Given the description of an element on the screen output the (x, y) to click on. 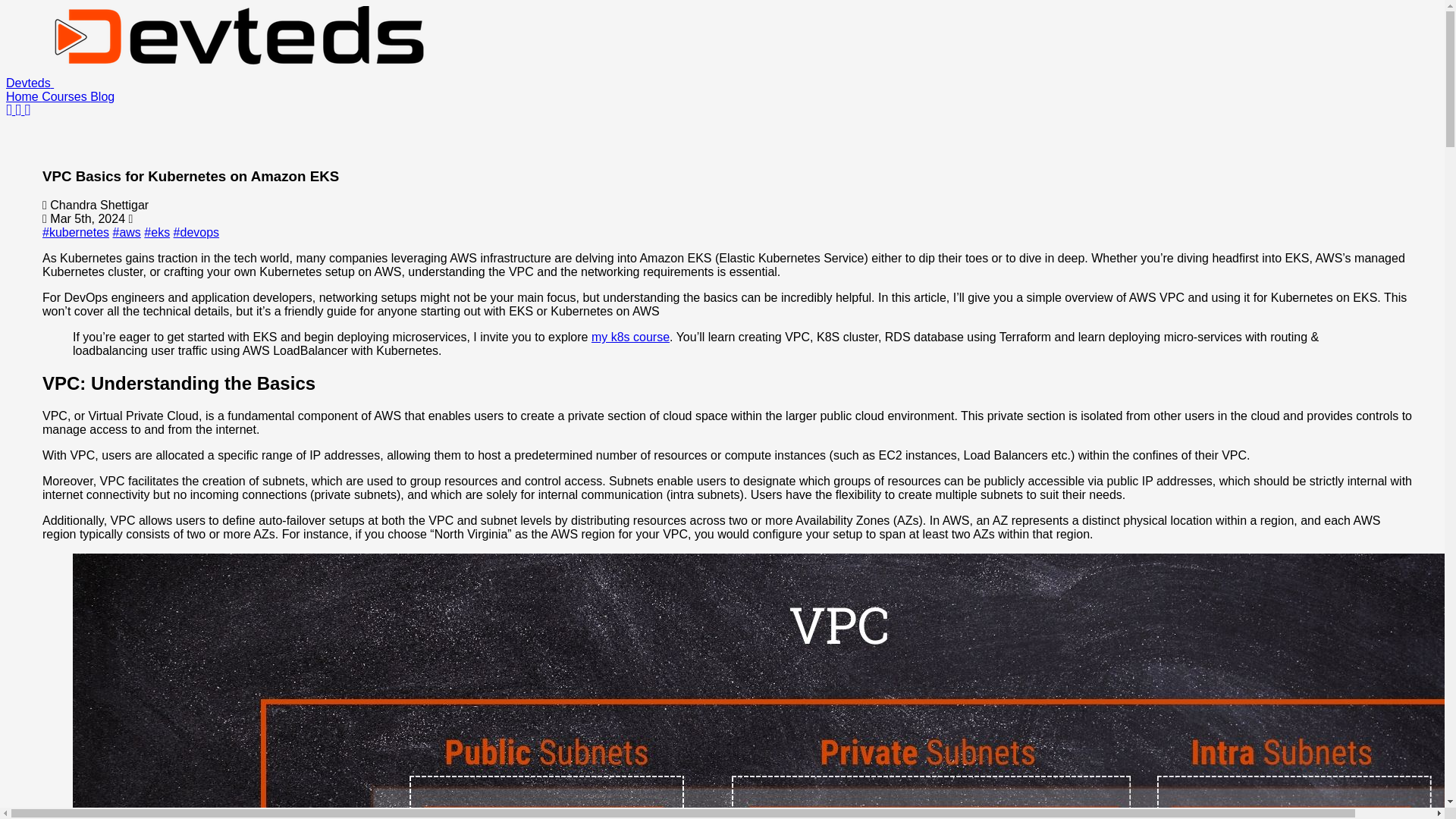
Courses (66, 96)
Home (23, 96)
Devteds (217, 82)
my k8s course (630, 336)
Blog (102, 96)
